Given the description of an element on the screen output the (x, y) to click on. 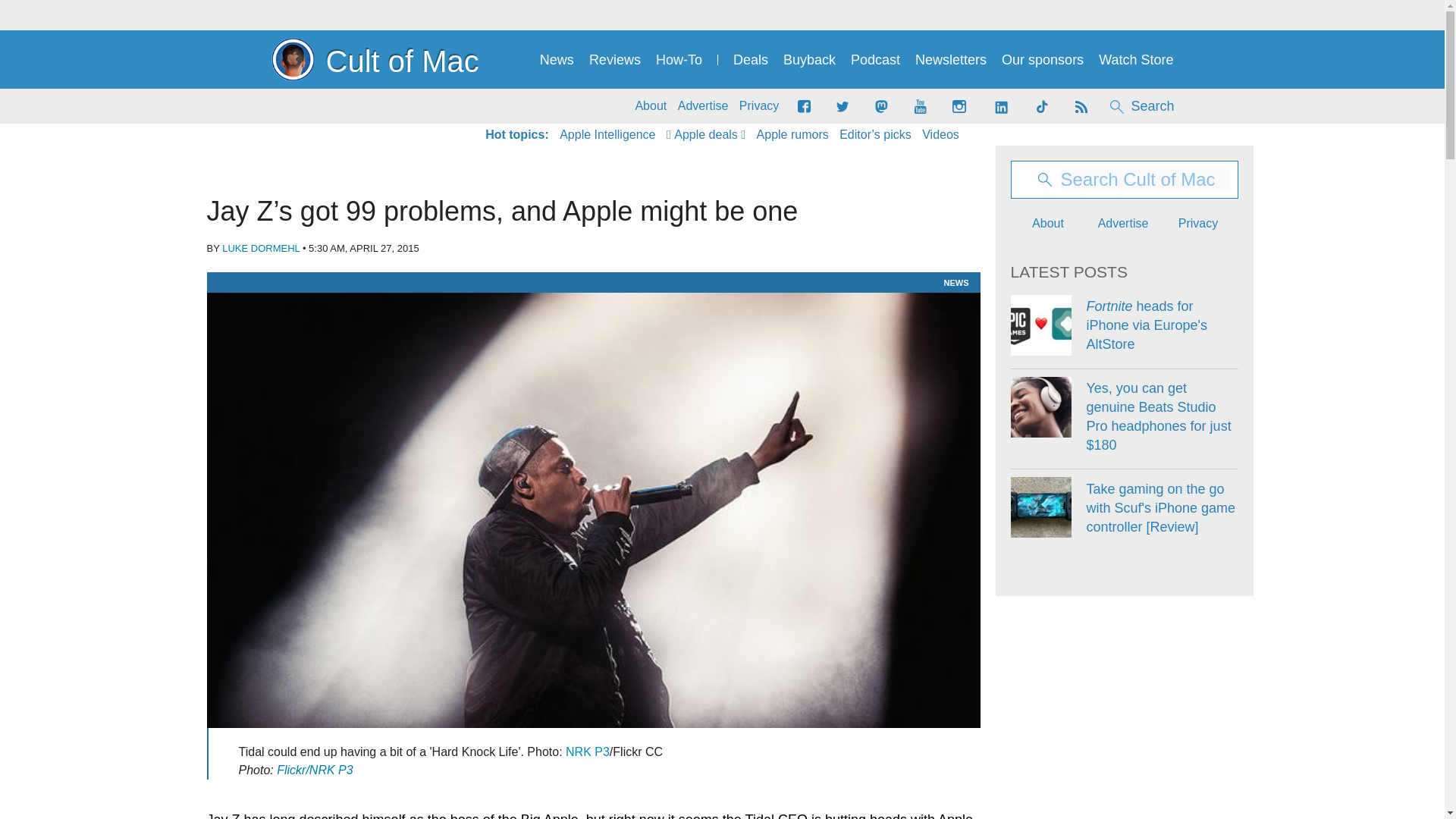
Apple rumors (792, 134)
Apple legal battles (792, 134)
Privacy (758, 105)
Watch Store (1135, 59)
About (650, 105)
Deals (750, 59)
Advertise (703, 105)
Buyback (809, 59)
Apple Intelligence (607, 134)
Videos (940, 134)
Hot topics: (516, 134)
Newsletters (950, 59)
Apple deals  (705, 134)
Reviews (613, 59)
Cult of Mac (374, 59)
